Given the description of an element on the screen output the (x, y) to click on. 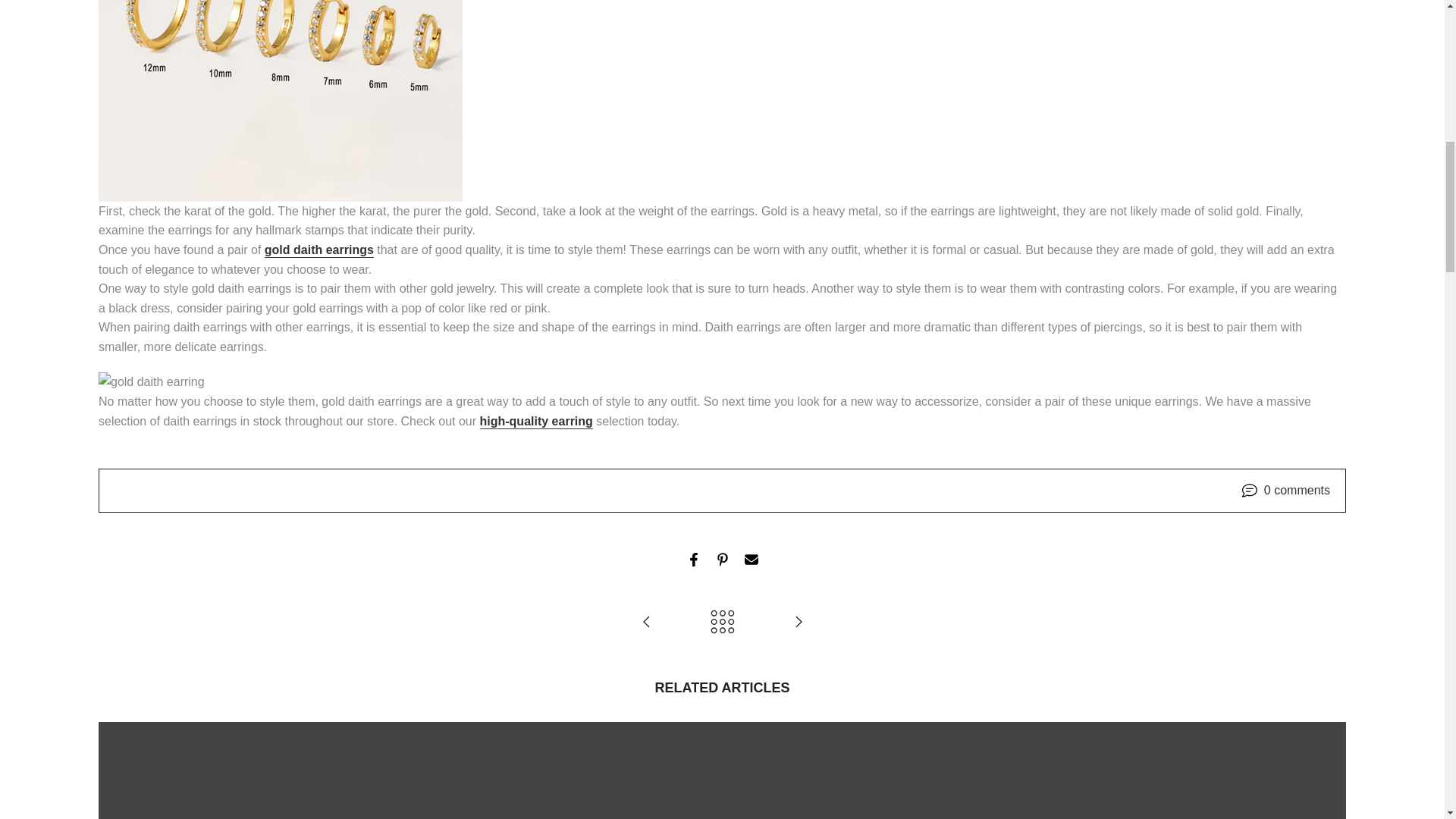
EricaJewels (535, 421)
Back to Blog (722, 622)
What is a Cluster Piercing? (646, 622)
gold daith earring (319, 250)
How to Save Money For Earrings (797, 622)
